Given the description of an element on the screen output the (x, y) to click on. 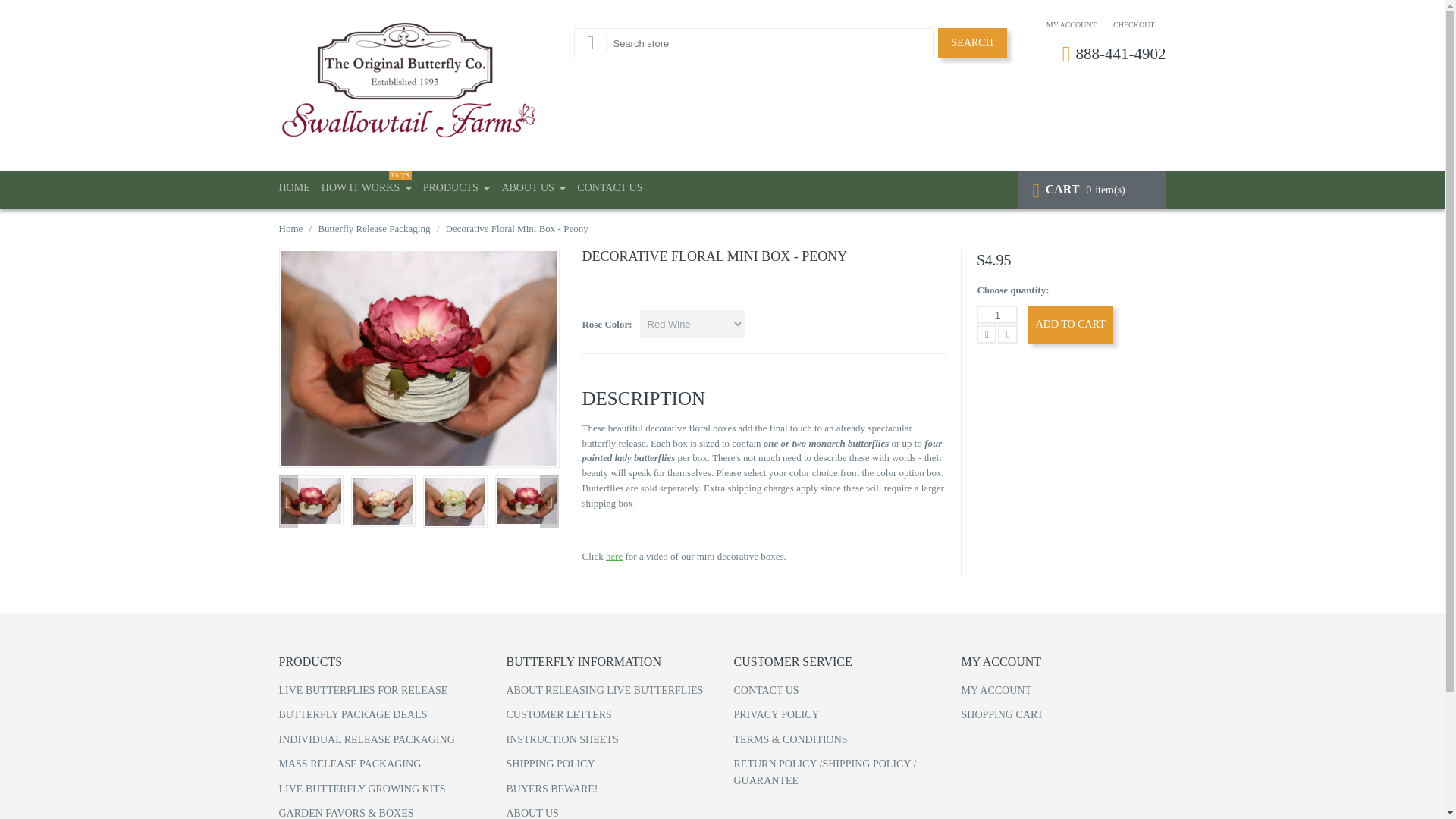
Home (290, 228)
888-441-4902 (1120, 54)
Butterfly Release Packaging (373, 228)
CONTACT US (609, 189)
MY ACCOUNT (1071, 24)
HOME (294, 189)
Back to the frontpage (290, 228)
Mini decorative boxes for live butterflies  (614, 555)
SEARCH (972, 42)
1 (996, 314)
CHECKOUT (1133, 24)
Butterfly Release Packaging (373, 228)
PRODUCTS (456, 189)
ABOUT US (533, 189)
